Given the description of an element on the screen output the (x, y) to click on. 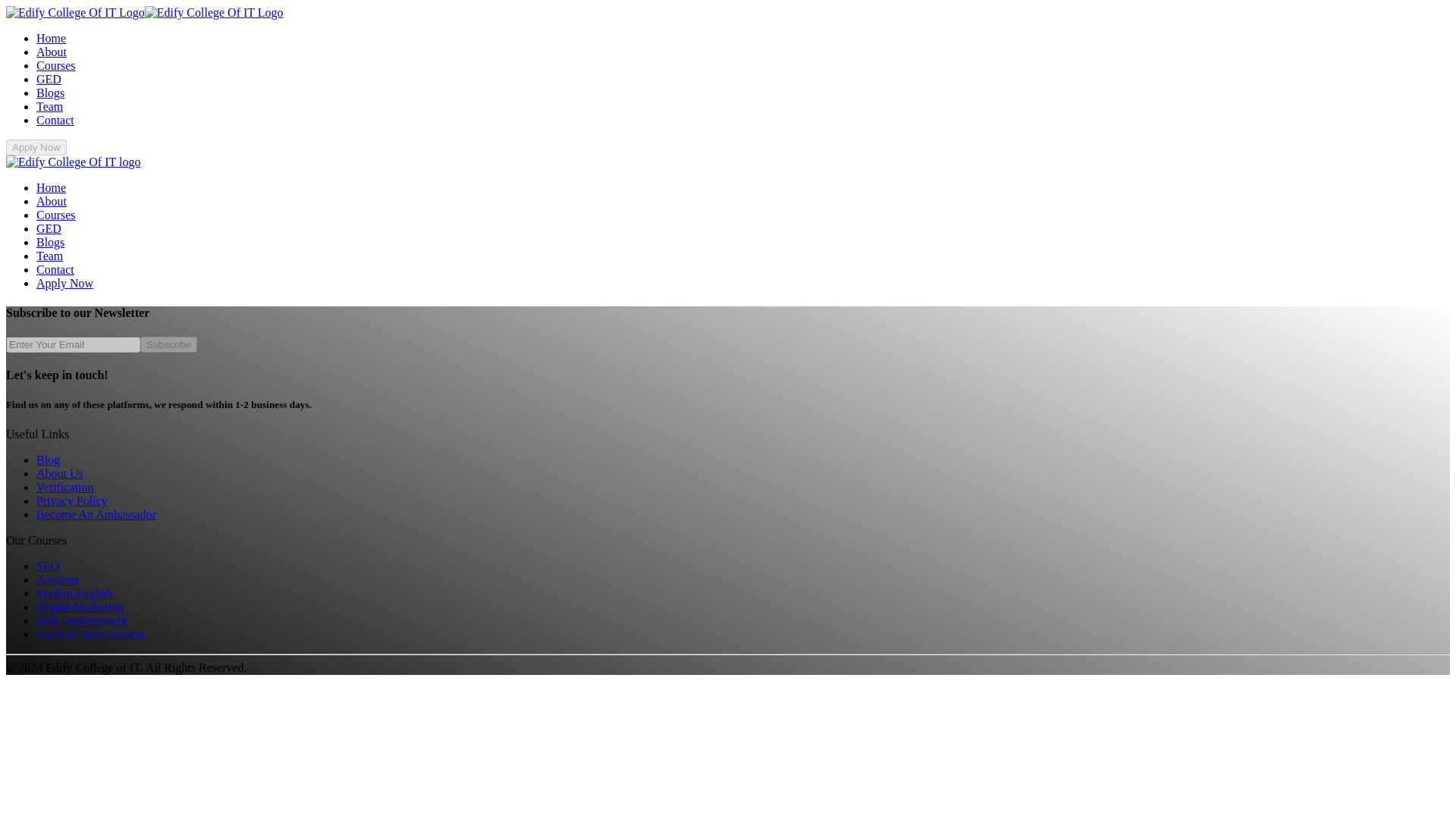
About (51, 201)
Home (50, 187)
Contact (55, 119)
About (51, 51)
About Us (59, 472)
Home (50, 38)
Blogs (50, 241)
Become An Ambassador (95, 513)
Blog (47, 459)
Subscribe (167, 344)
